Given the description of an element on the screen output the (x, y) to click on. 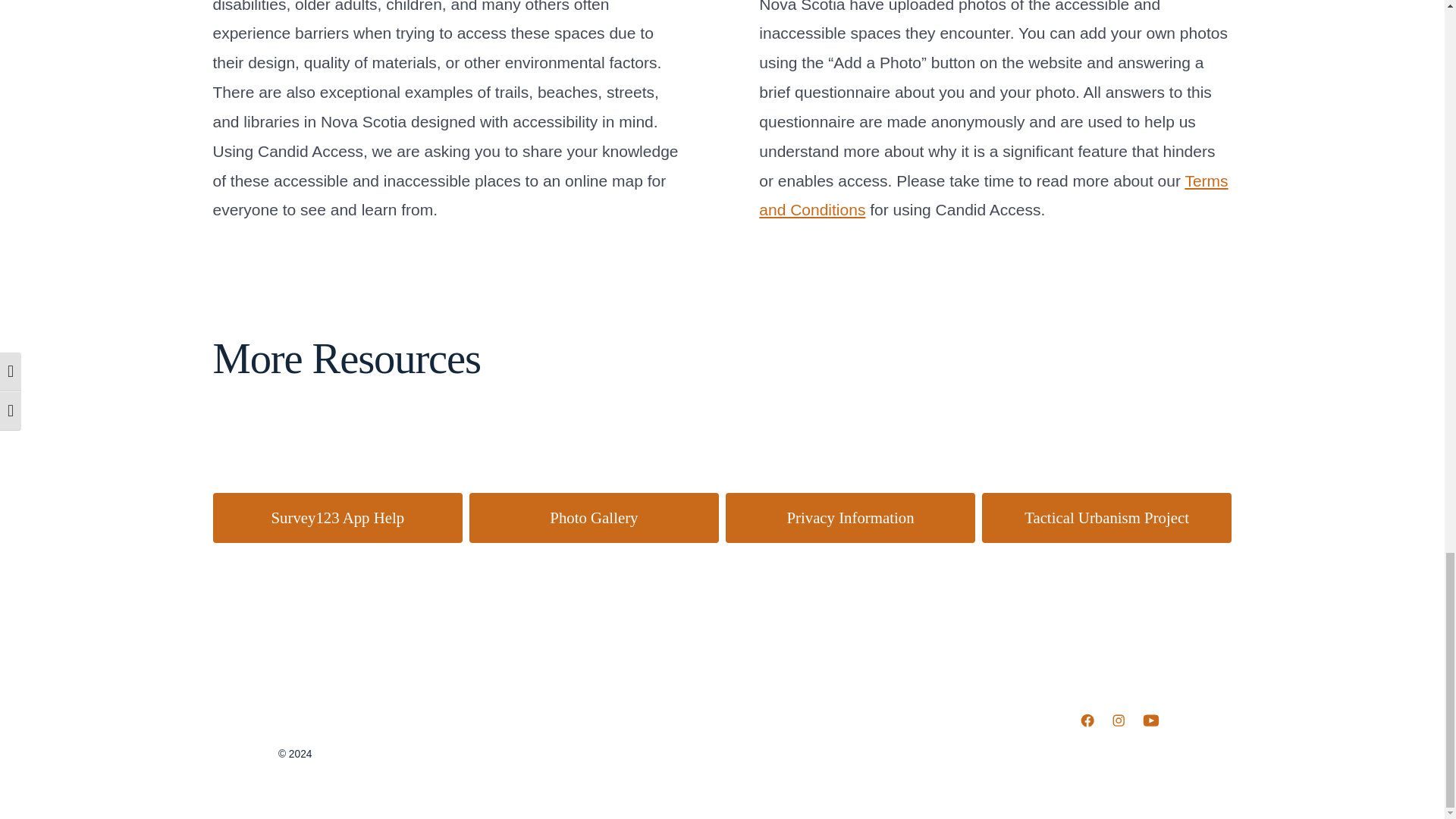
Tactical Urbanism Project (1106, 517)
Privacy Information (850, 517)
Open YouTube in a new tab (1150, 719)
Terms and Conditions (992, 195)
Open Facebook in a new tab (1087, 719)
Survey123 App Help (337, 517)
Open Instagram in a new tab (1118, 719)
Photo Gallery (593, 517)
